Given the description of an element on the screen output the (x, y) to click on. 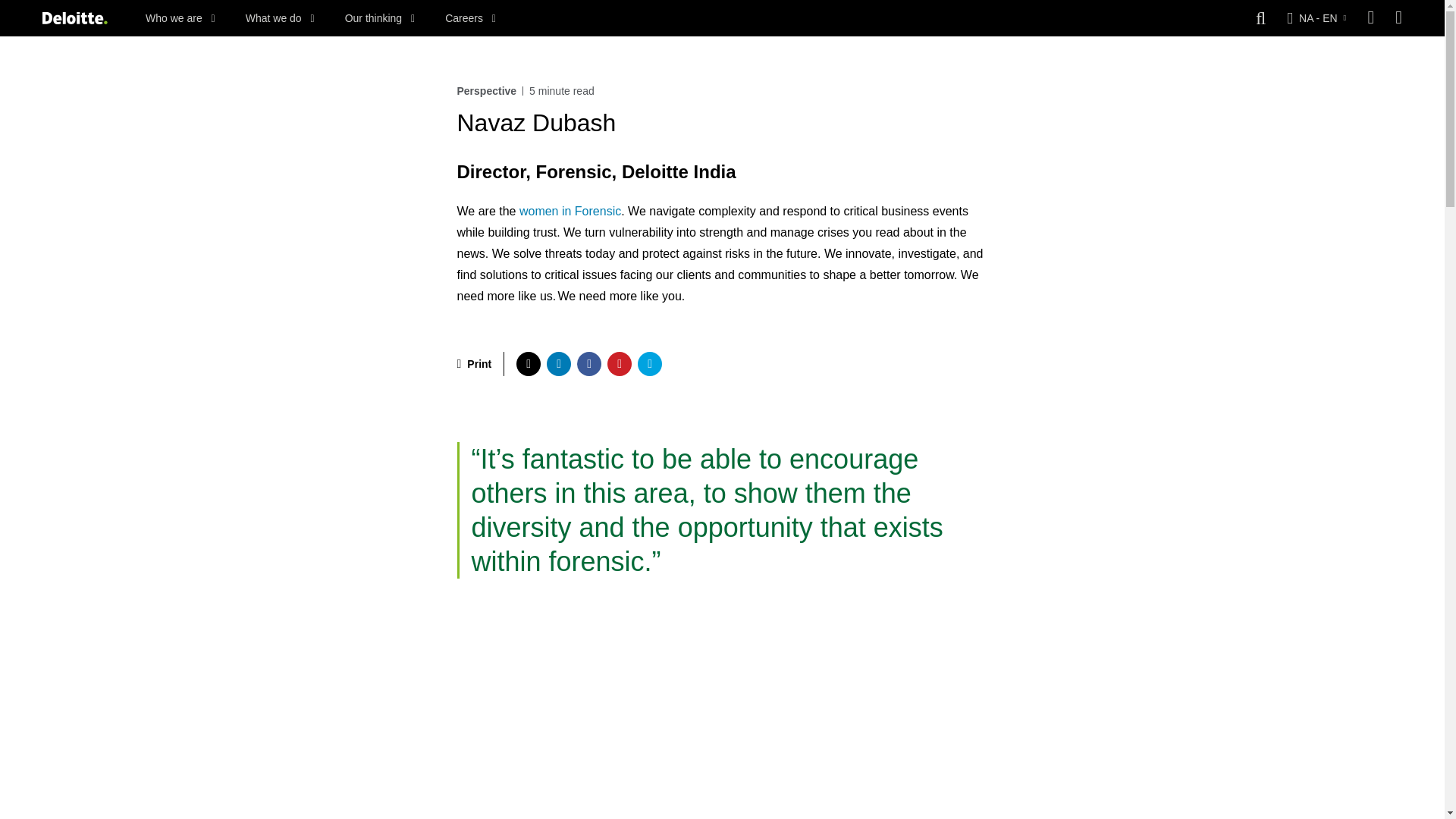
share via twitter (528, 363)
share via pinterest (619, 363)
Join My Deloitte (1398, 18)
Our thinking (379, 18)
share via... (649, 363)
Print (474, 363)
Careers (470, 18)
What we do (280, 18)
share via facebook (588, 363)
share via linkedin (558, 363)
Who we are (180, 18)
Deloitte (74, 18)
